Given the description of an element on the screen output the (x, y) to click on. 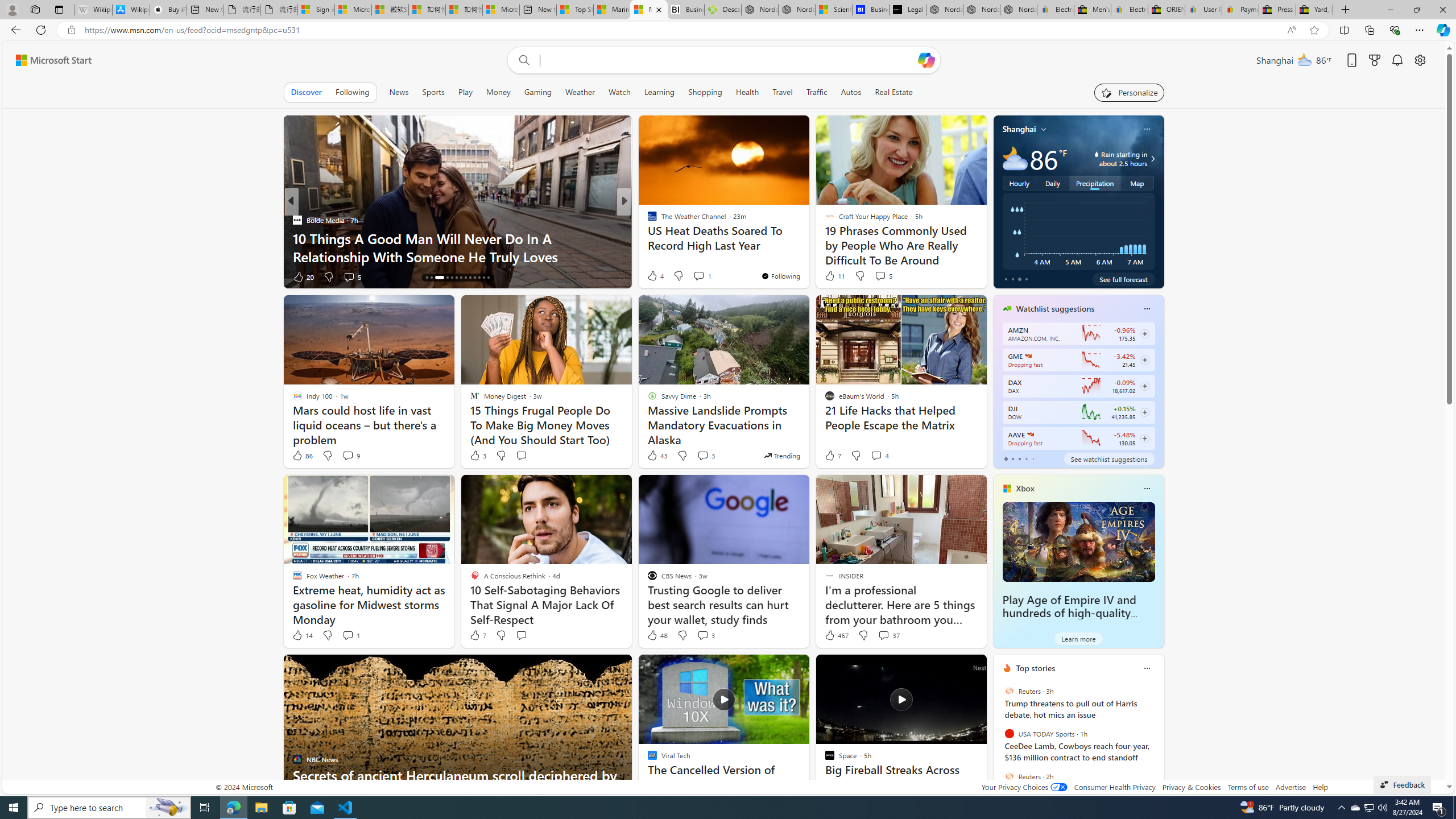
Microsoft account | Account Checkup (500, 9)
Nordace - Summer Adventures 2024 (759, 9)
previous (998, 741)
tab-4 (1032, 458)
4 Like (655, 275)
